Given the description of an element on the screen output the (x, y) to click on. 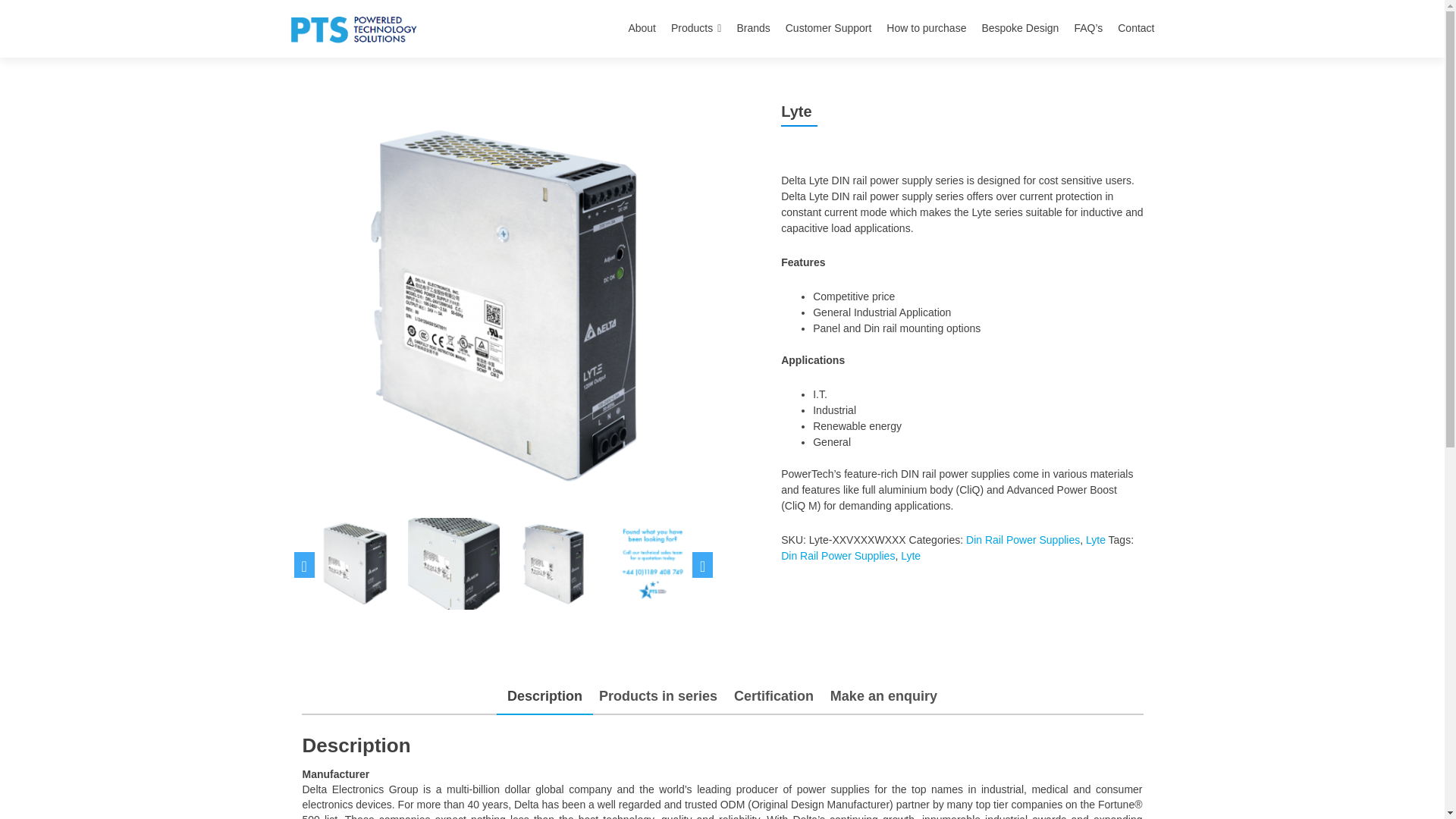
About (641, 28)
Certification (773, 696)
Din Rail Power Supplies (1023, 539)
Customer Support (829, 28)
Lyte (910, 555)
Brands (753, 28)
Products in series (657, 696)
Products (695, 28)
Make an enquiry (883, 696)
Lyte (1095, 539)
Contact (1136, 28)
How to purchase (926, 28)
Bespoke Design (1019, 28)
Description (544, 696)
Din Rail Power Supplies (837, 555)
